Given the description of an element on the screen output the (x, y) to click on. 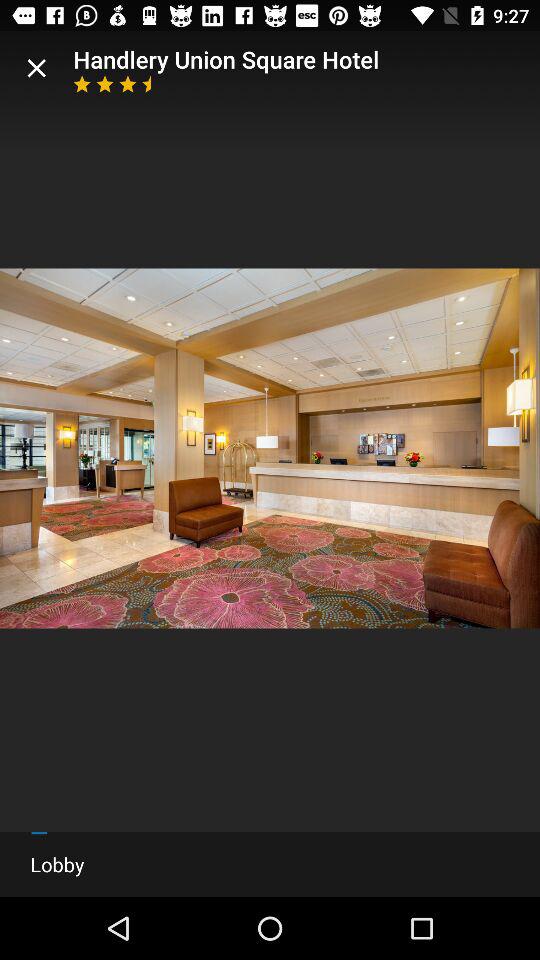
turn off the item at the center (270, 448)
